Given the description of an element on the screen output the (x, y) to click on. 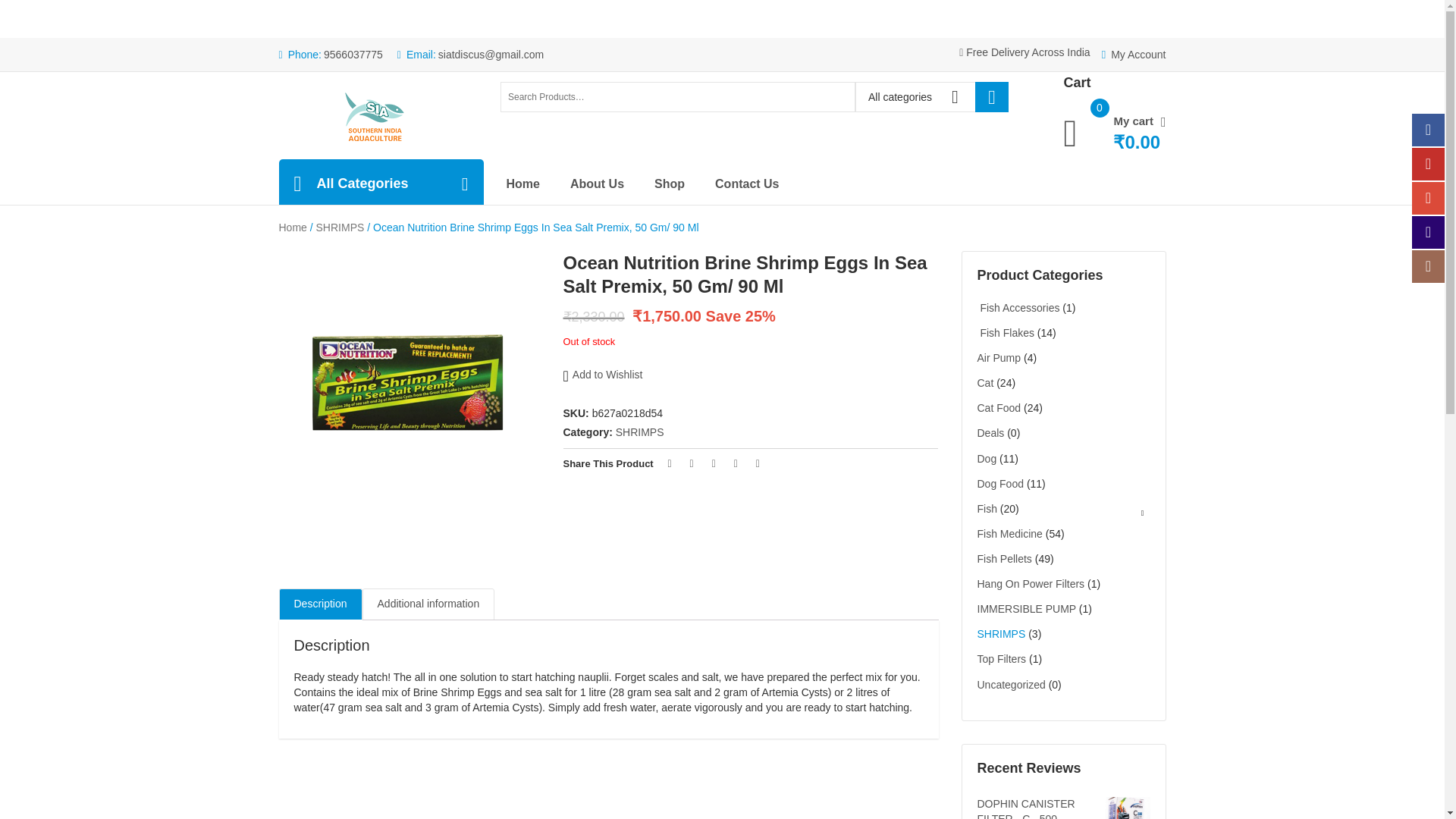
Home (369, 116)
About Us (611, 183)
Contact Us (761, 183)
Home (538, 183)
Shop (683, 183)
Home (293, 227)
Search for: (678, 96)
